Given the description of an element on the screen output the (x, y) to click on. 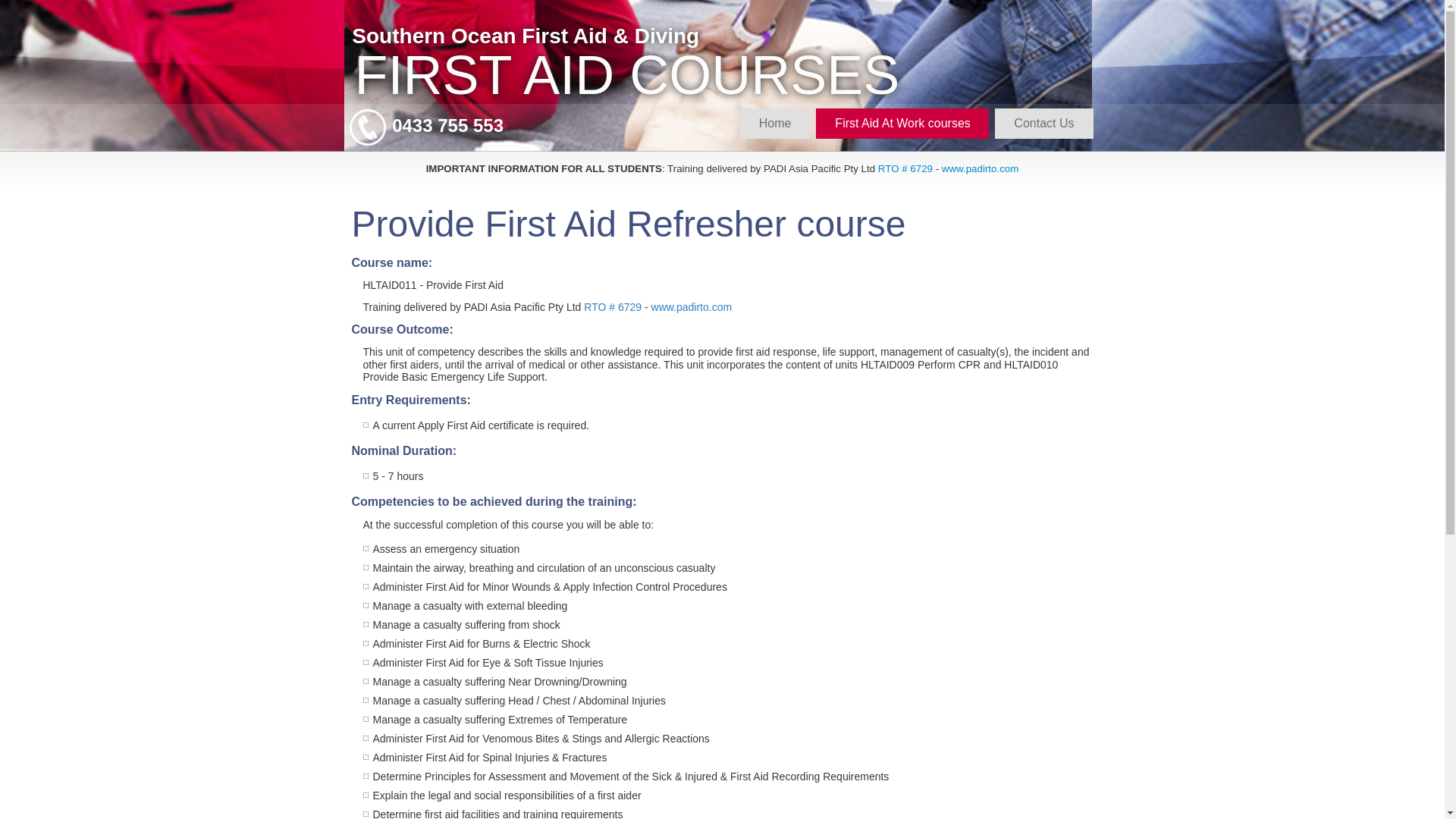
FIRST AID COURSES Element type: text (627, 74)
www.padirto.com Element type: text (691, 307)
Home Element type: text (775, 123)
Contact Us Element type: text (1043, 123)
RTO # 6729 Element type: text (905, 168)
RTO # 6729 Element type: text (612, 307)
www.padirto.com Element type: text (979, 168)
First Aid At Work courses Element type: text (901, 123)
